Given the description of an element on the screen output the (x, y) to click on. 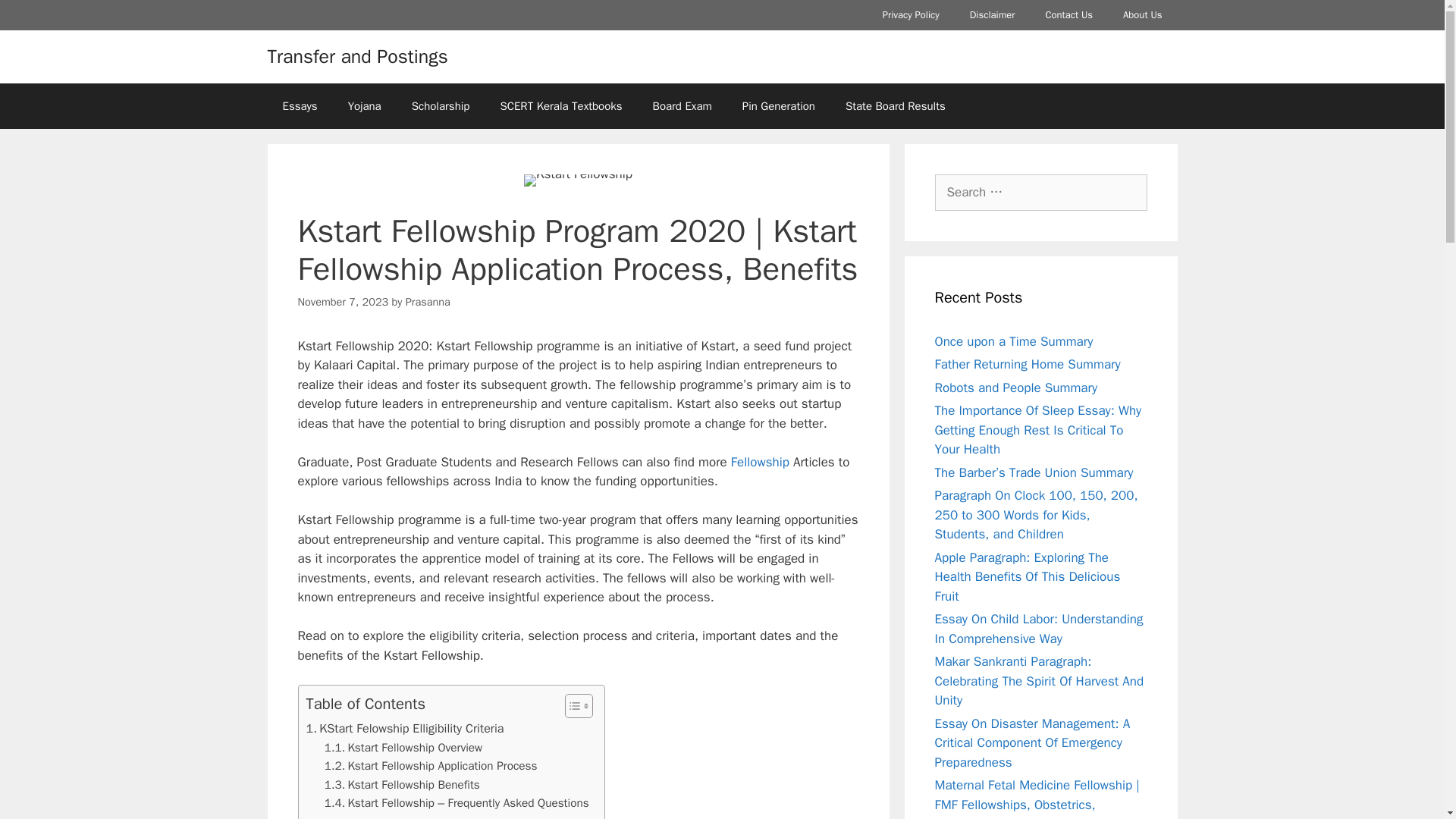
View all posts by Prasanna (427, 301)
KStart Felowship Elligibility Criteria (404, 728)
Search for: (1040, 192)
Pin Generation (777, 105)
Kstart Fellowship Application Process (430, 765)
Transfer and Postings (356, 56)
Kstart Fellowship Application Process (430, 765)
KStart Felowship Elligibility Criteria (404, 728)
SCERT Kerala Textbooks (560, 105)
Prasanna (427, 301)
